Given the description of an element on the screen output the (x, y) to click on. 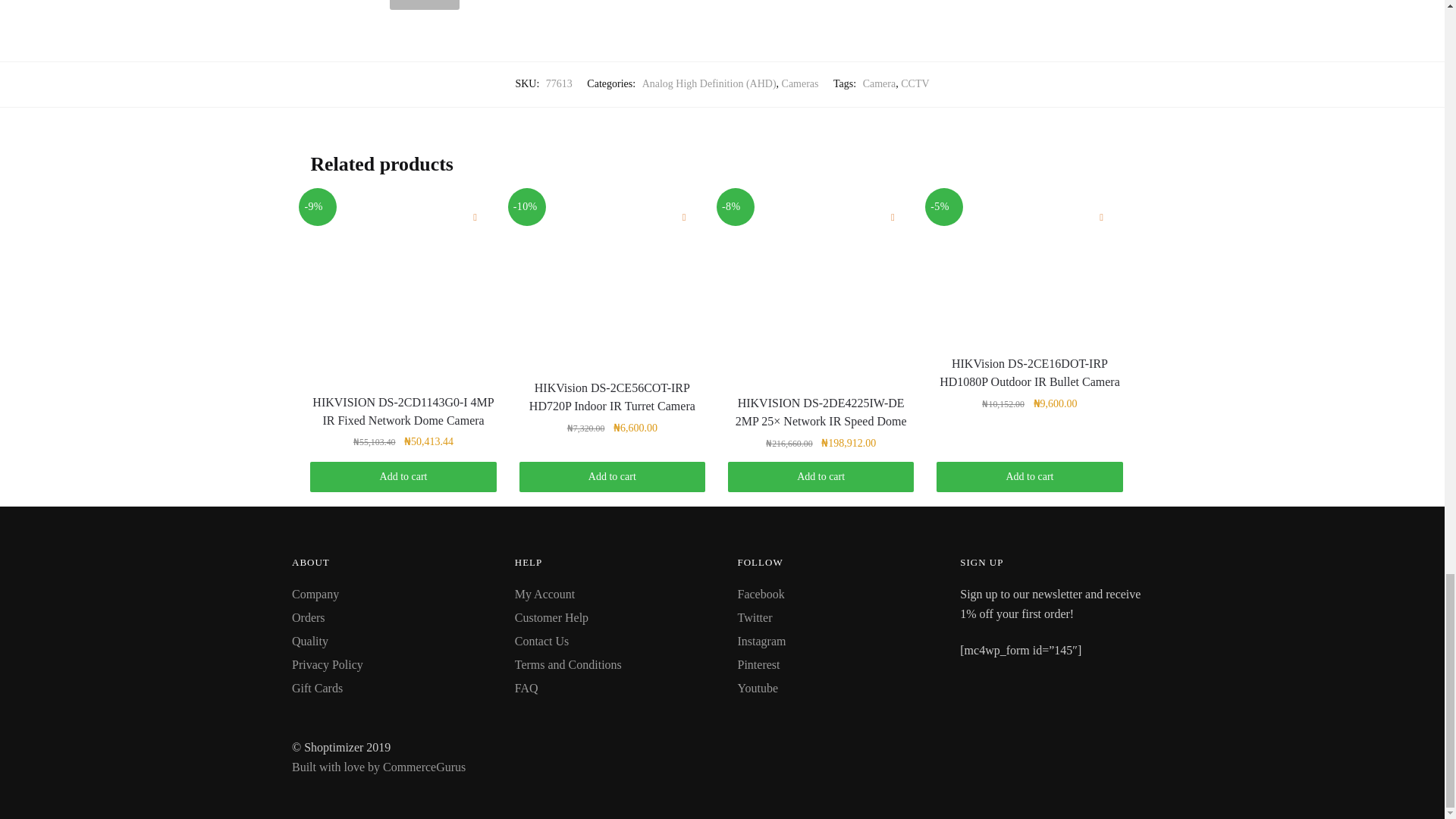
HIKVision DS-2CE56COT-IRP HD720P Indoor IR Turret Camera (611, 397)
HIKVision DS-2CE16DOT-IRP HD1080P Outdoor IR Bullet Camera (1029, 372)
HIKVision DS-2CE56COT-IRP HD720P Indoor IR Turret Camera (611, 280)
HIKVISION DS-2CD1143G0-I 4MP IR Fixed Network Dome Camera (403, 287)
HIKVision DS-2CE16DOT-IRP HD1080P Outdoor IR Bullet Camera (1029, 268)
HIKVISION DS-2CD1143G0-I 4MP IR Fixed Network Dome Camera (403, 411)
Submit (424, 4)
